Given the description of an element on the screen output the (x, y) to click on. 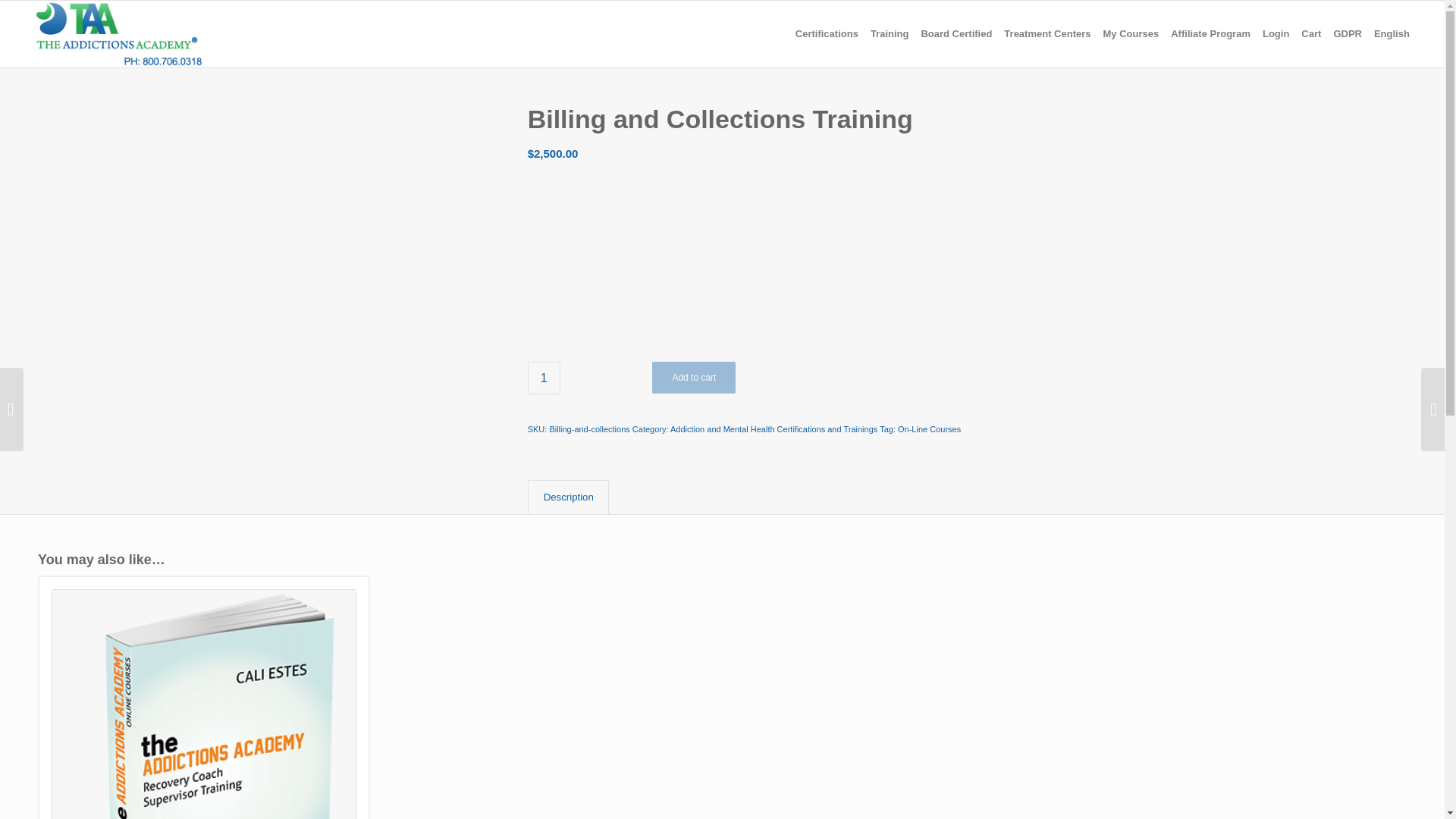
Treatment Centers (1046, 33)
logo-self-study (118, 33)
1 (543, 377)
Board Certified (955, 33)
Certifications (826, 33)
